Given the description of an element on the screen output the (x, y) to click on. 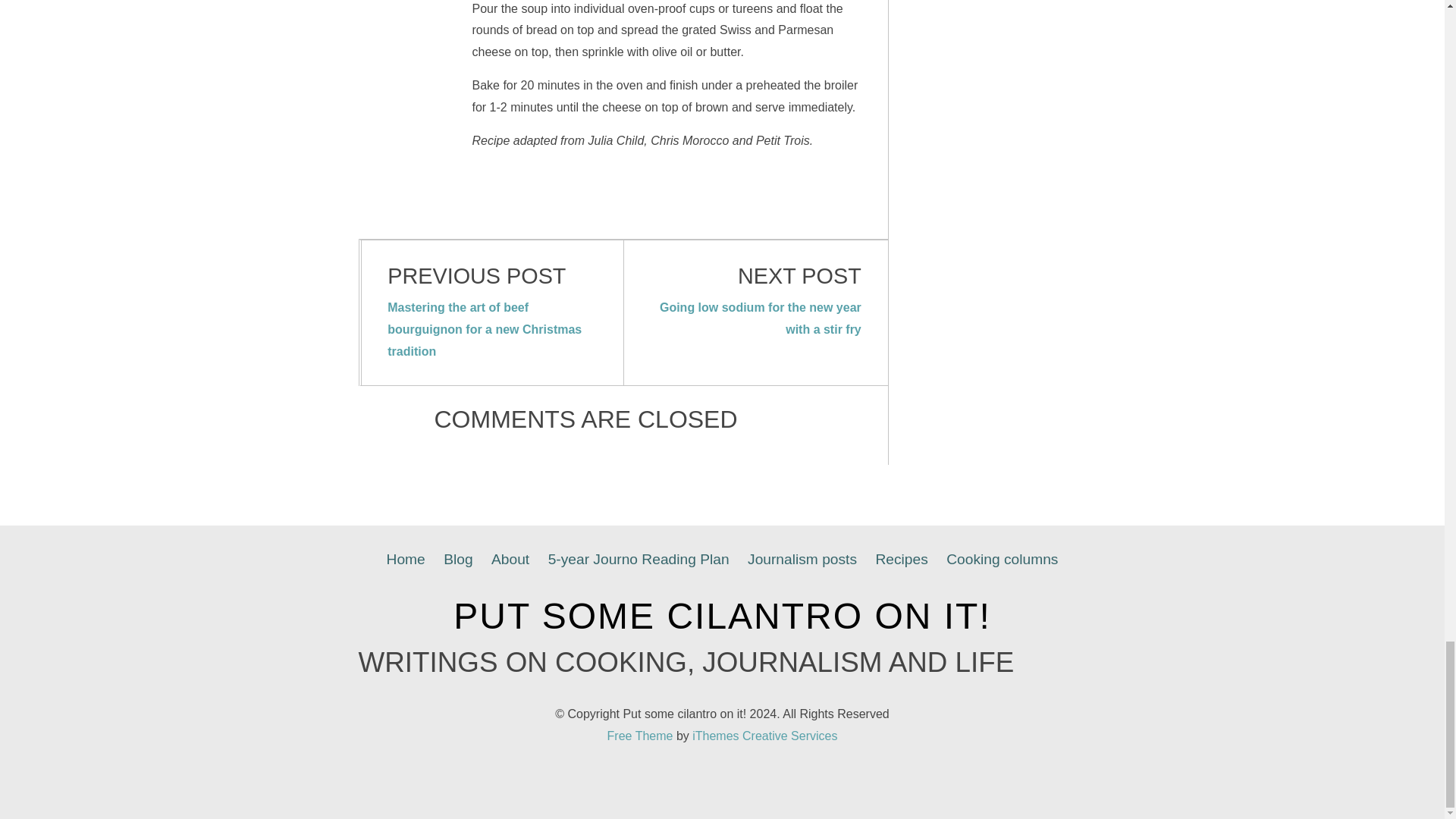
WordPress Themes (765, 735)
Free Theme (639, 735)
5-year Journo Reading Plan (638, 559)
Home (405, 559)
Blog (457, 559)
Put some cilantro on it! (721, 616)
Journalism posts (801, 559)
Recipes (900, 559)
About (510, 559)
